Given the description of an element on the screen output the (x, y) to click on. 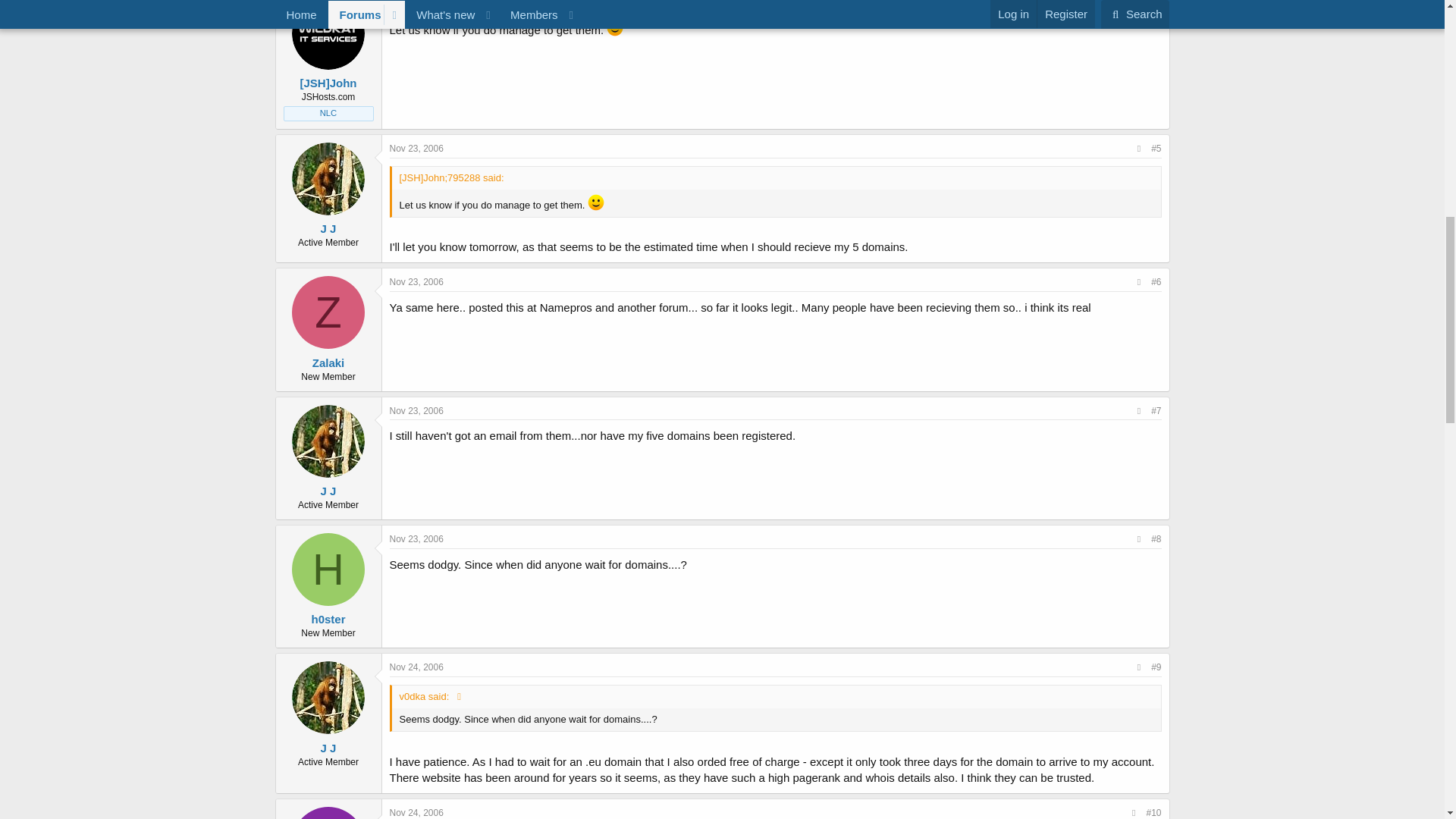
Nov 23, 2006 at 1:57 AM (417, 4)
Nov 23, 2006 at 5:12 PM (417, 410)
Nov 23, 2006 at 11:53 PM (417, 538)
Nov 23, 2006 at 1:58 AM (417, 148)
Nov 23, 2006 at 6:58 AM (417, 281)
Nov 24, 2006 at 12:51 PM (417, 812)
Nov 24, 2006 at 12:55 AM (417, 666)
